Given the description of an element on the screen output the (x, y) to click on. 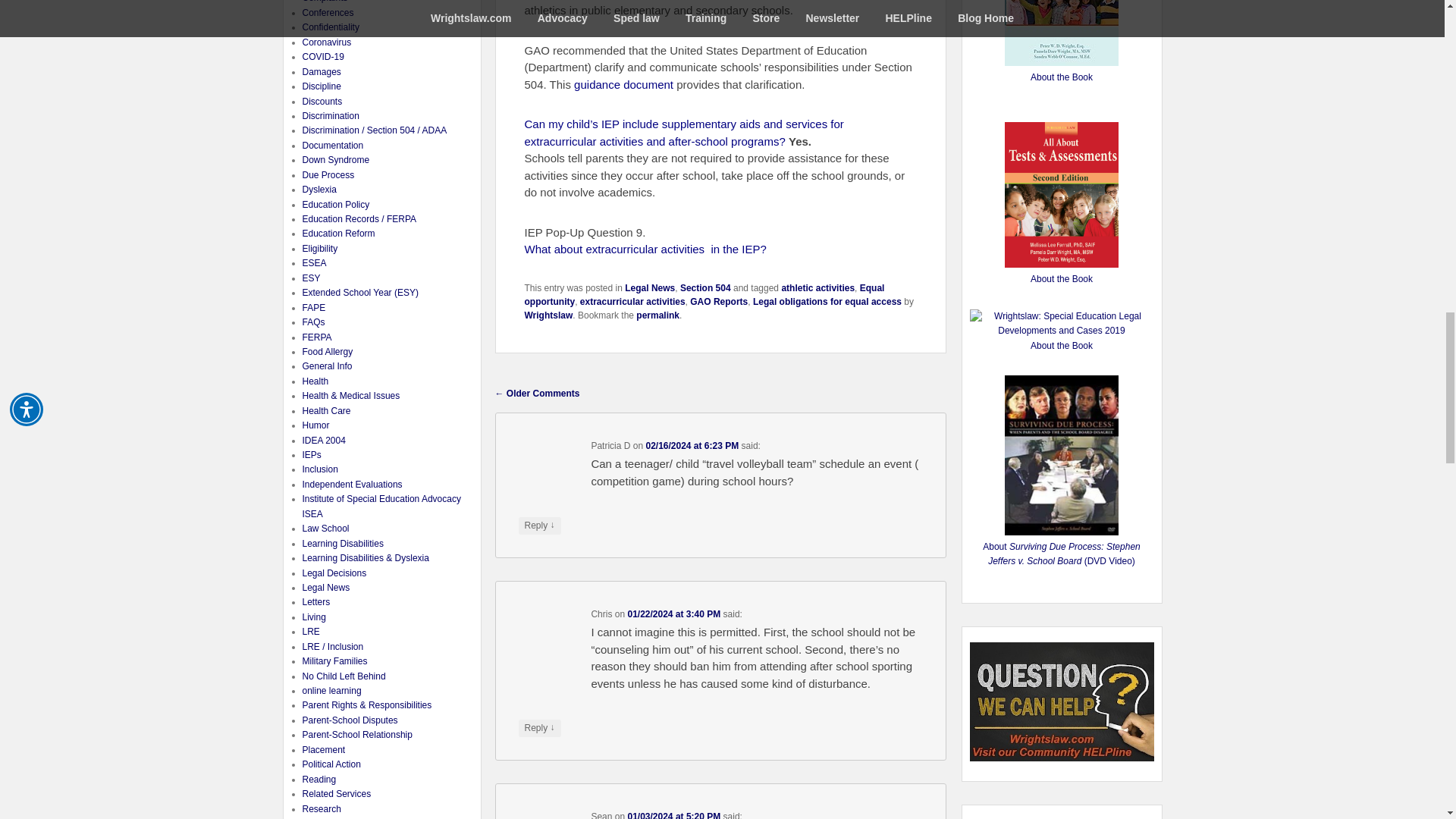
Equal opportunity (704, 294)
What about extracurricular activities  in the IEP? (645, 248)
extracurricular activities (632, 301)
guidance document (622, 83)
Section 504 (704, 287)
GAO Reports (719, 301)
athletic activities (817, 287)
permalink (657, 315)
Wrightslaw (548, 315)
Legal obligations for equal access (826, 301)
Legal News (649, 287)
